Given the description of an element on the screen output the (x, y) to click on. 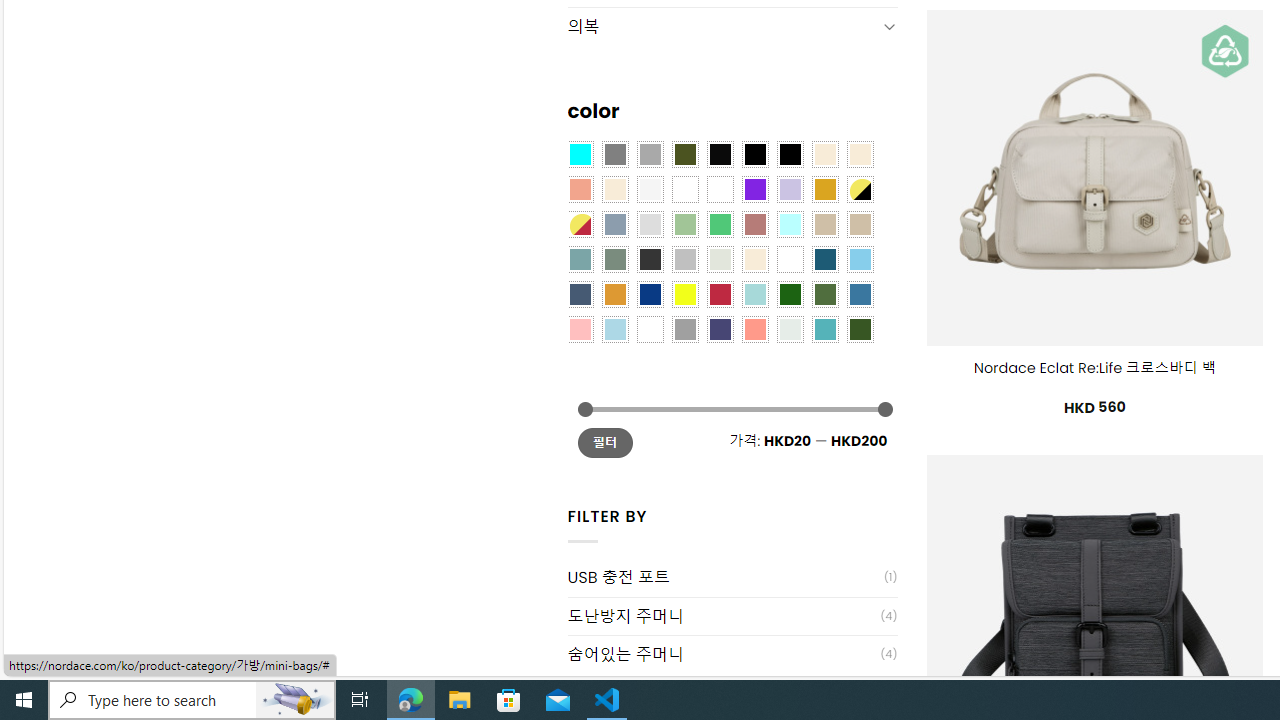
Purple (755, 190)
Coral (579, 190)
